Given the description of an element on the screen output the (x, y) to click on. 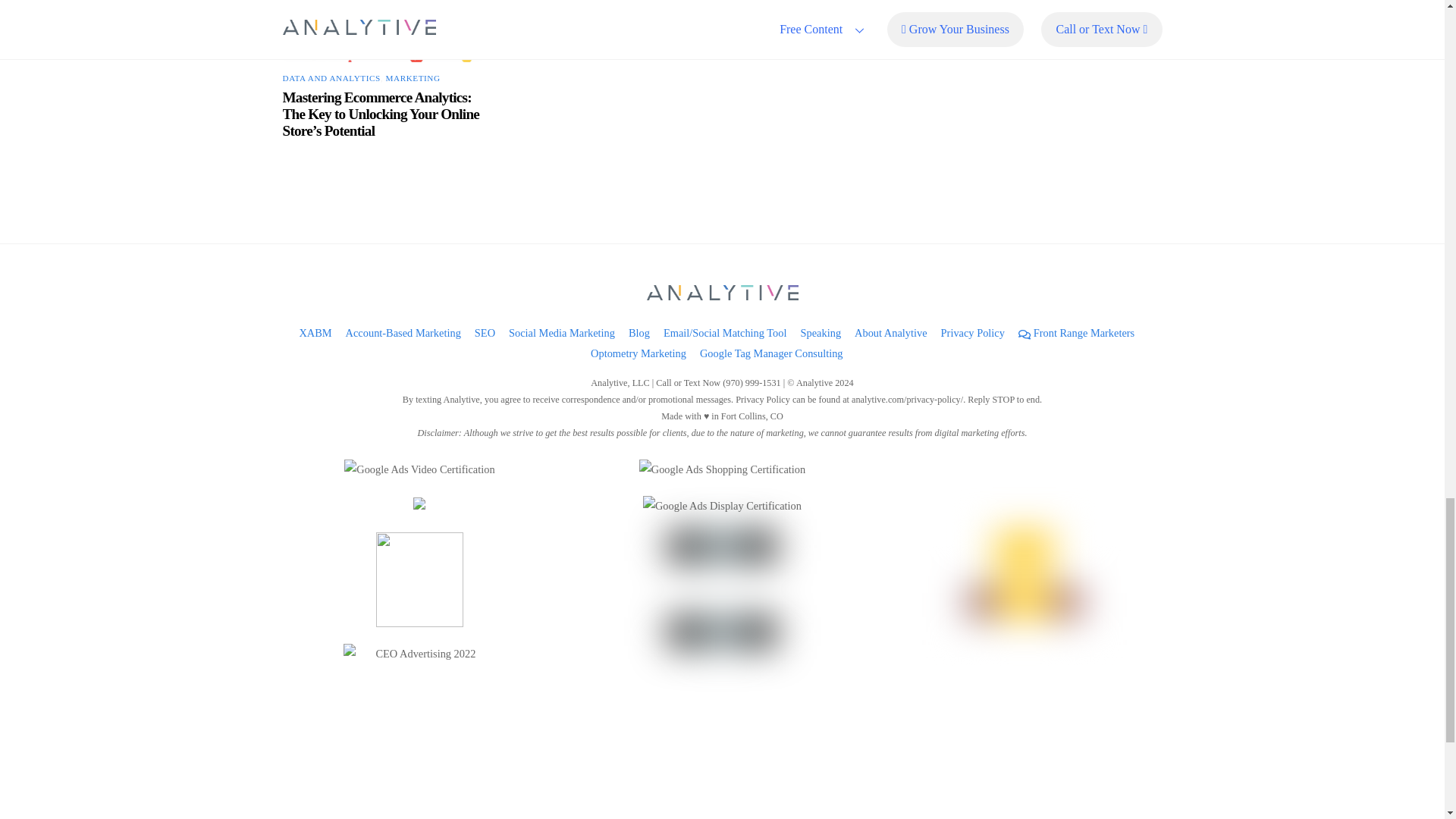
SEO (484, 332)
About Analytive (890, 332)
Privacy Policy (972, 332)
Speaking (820, 332)
Analytive (721, 294)
web analytics ecommerce (381, 31)
Front Range Marketers (1075, 332)
Social Media Marketing (561, 332)
XABM (314, 332)
DATA AND ANALYTICS (331, 77)
Optometry Marketing (638, 353)
MARKETING (412, 77)
Blog (638, 332)
Account-Based Marketing (403, 332)
